Given the description of an element on the screen output the (x, y) to click on. 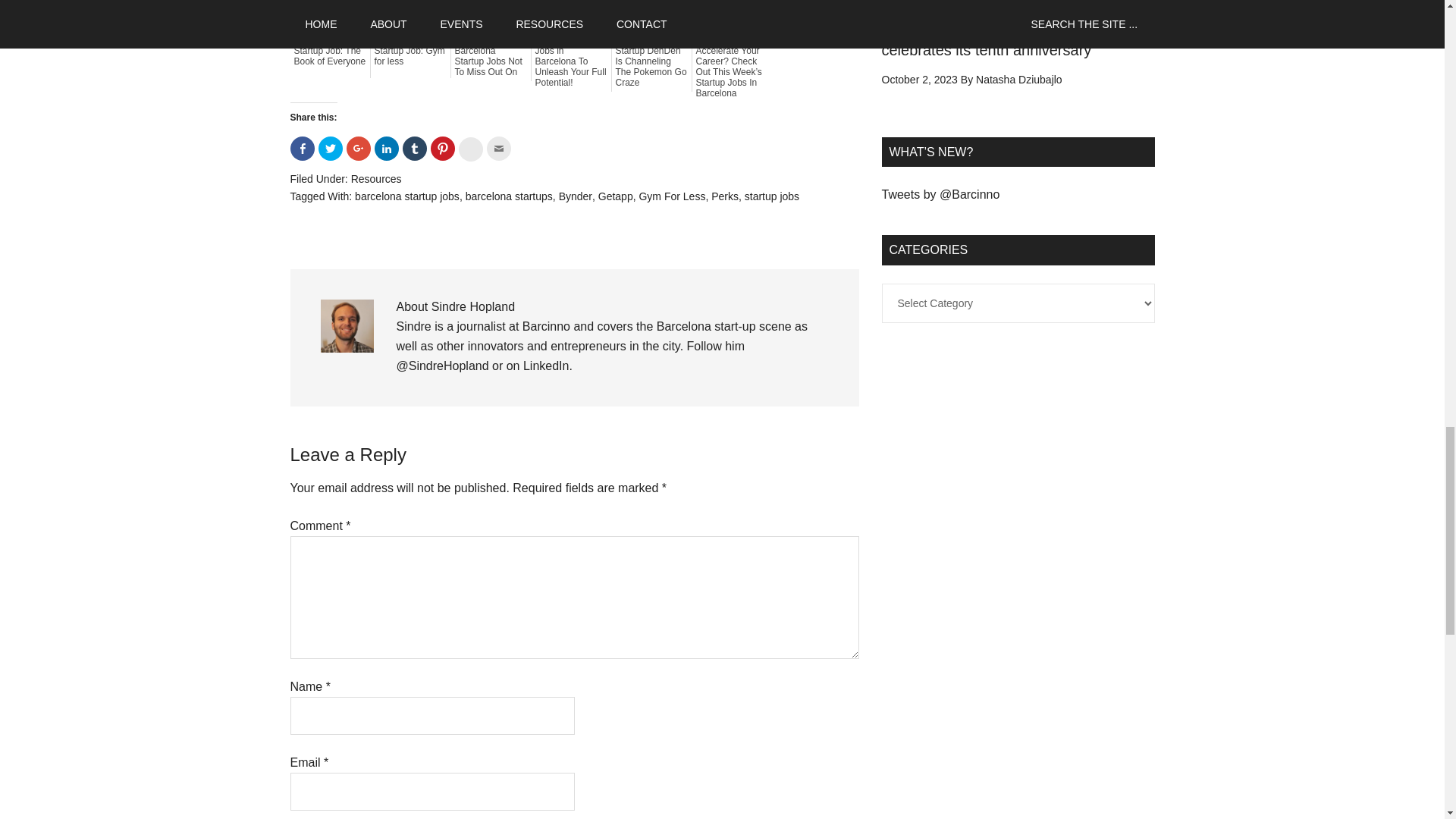
Click to share on LinkedIn (386, 148)
Barcelona Startup Job: Gym for less (410, 50)
Click to email this to a friend (498, 148)
Click to share on Twitter (330, 148)
Best Of May: 3 Barcelona Startup Jobs Not To Miss Out On (490, 55)
Click to share on Buffer (469, 149)
Click to share on Tumblr (413, 148)
Click to share on Facebook (301, 148)
Barcelona Startup Job: The Book of Everyone (330, 50)
Click to share on Pinterest (442, 148)
